Given the description of an element on the screen output the (x, y) to click on. 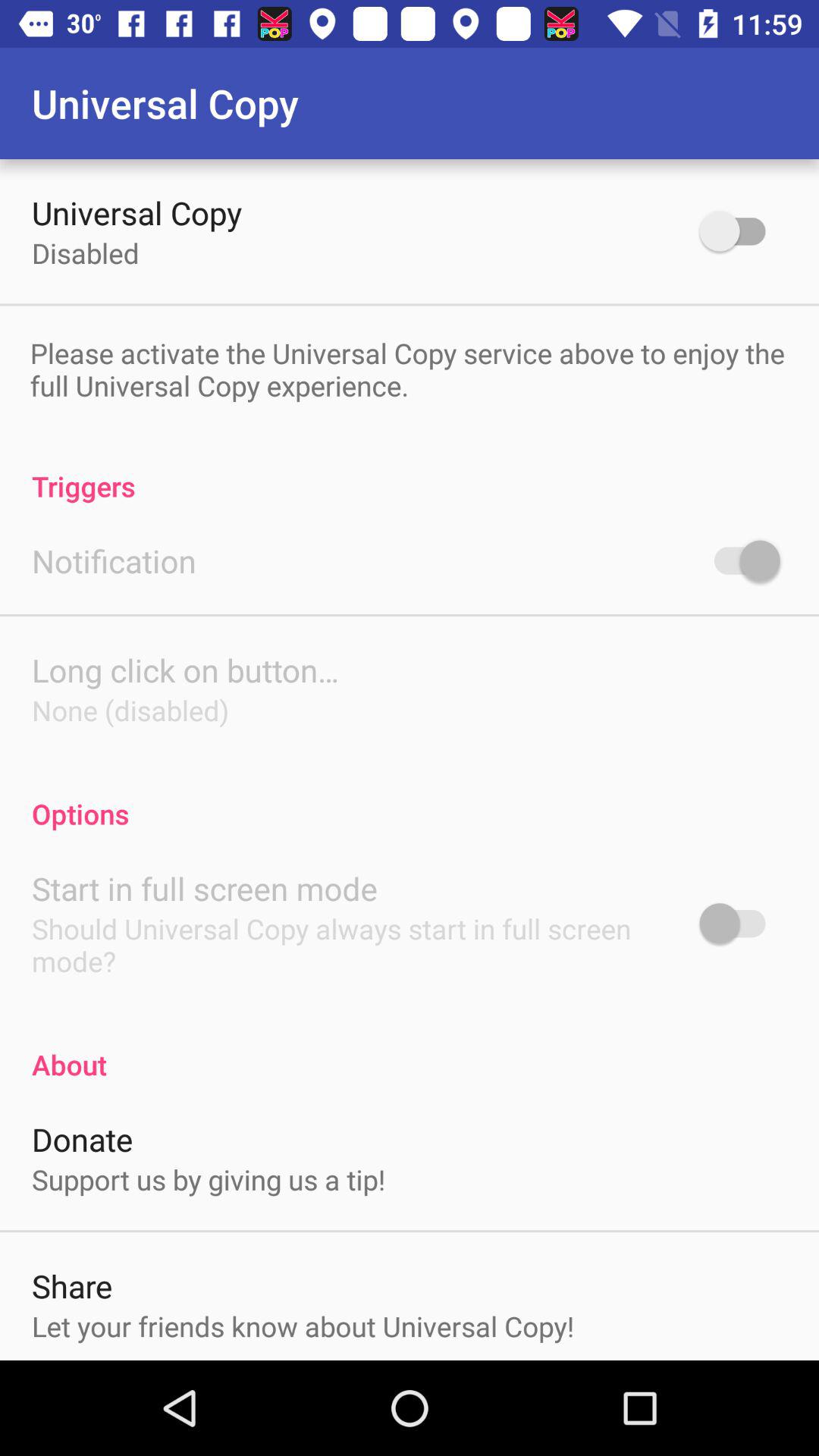
scroll until triggers icon (409, 470)
